Given the description of an element on the screen output the (x, y) to click on. 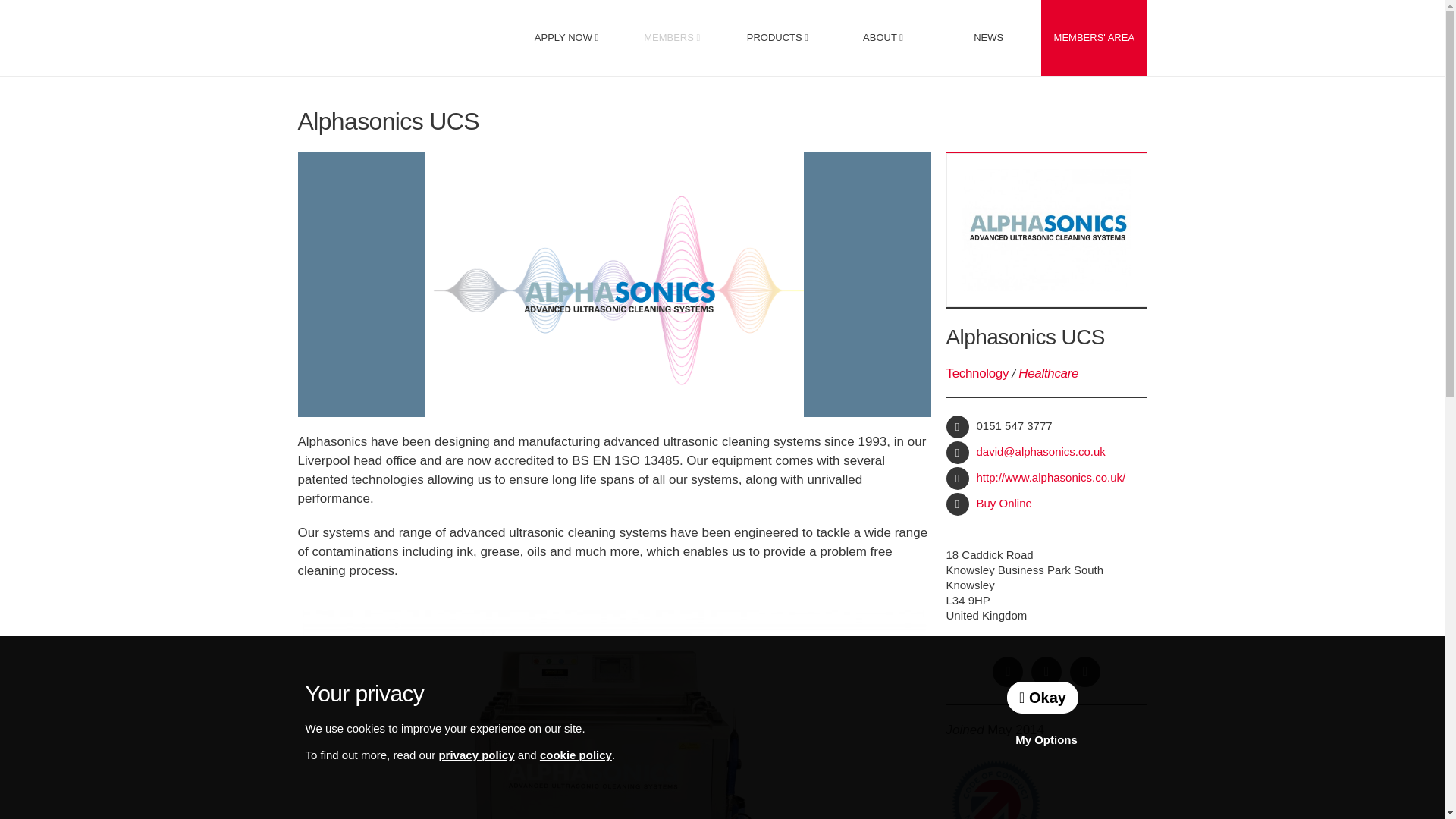
Made in Britain (397, 35)
Made in Britain - Code of Conduct (995, 789)
APPLY NOW (566, 38)
MEMBERS (672, 38)
visit Alphasonics UCS - Shop (957, 504)
Alphasonics UCS (149, 619)
Telephone Alphasonics UCS (957, 426)
Alphasonics UCS - Linkedin (1085, 671)
PRODUCTS (777, 38)
Email Alphasonics UCS (957, 452)
Alphasonics UCS - Twitter (1045, 671)
visit Alphasonics UCS - website (957, 477)
Alphasonics UCS (613, 714)
Alphasonics UCS - Facebook (1007, 671)
